Given the description of an element on the screen output the (x, y) to click on. 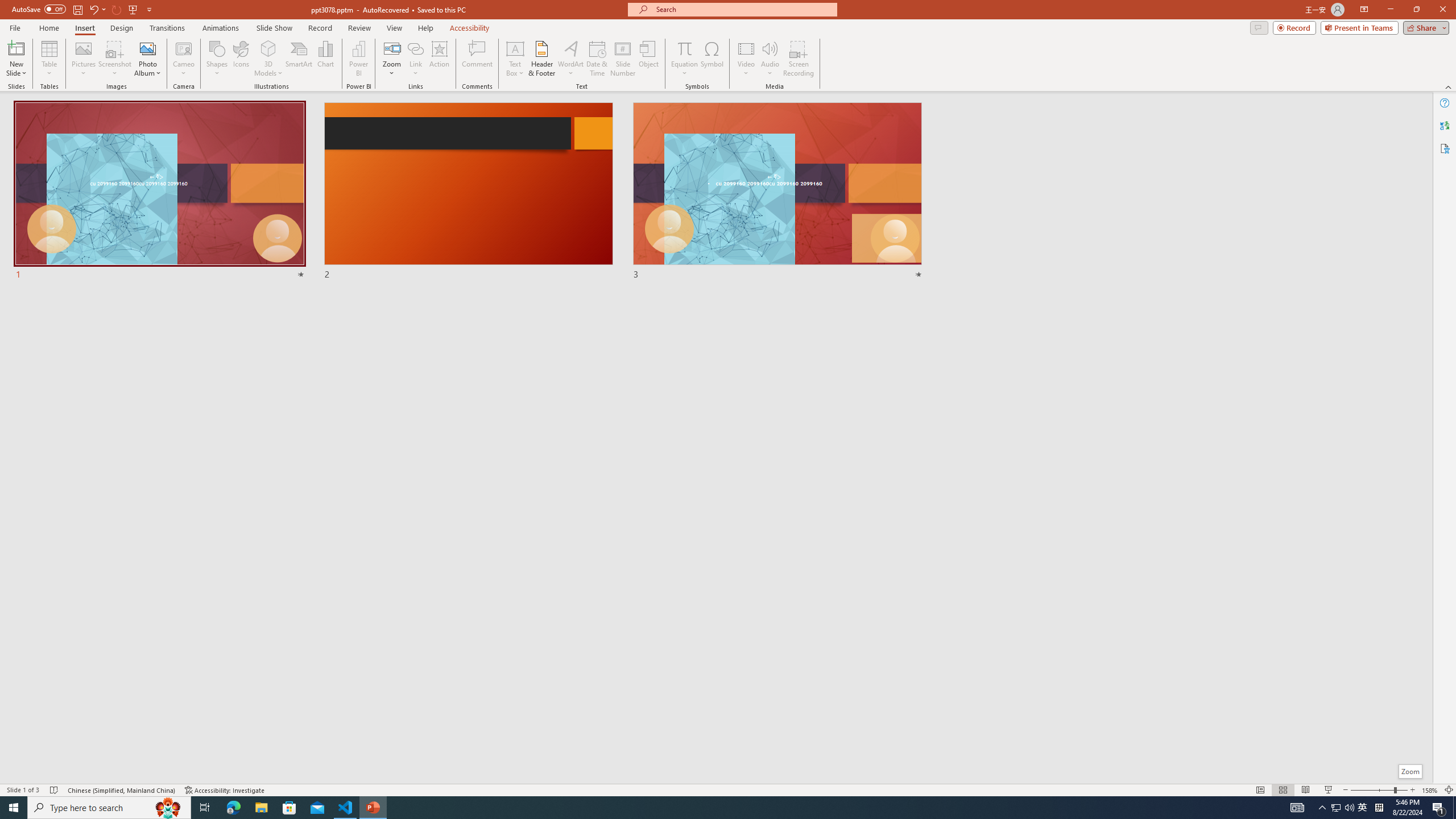
Power BI (358, 58)
Photo Album... (147, 58)
Screen Recording... (798, 58)
New Photo Album... (147, 48)
